Given the description of an element on the screen output the (x, y) to click on. 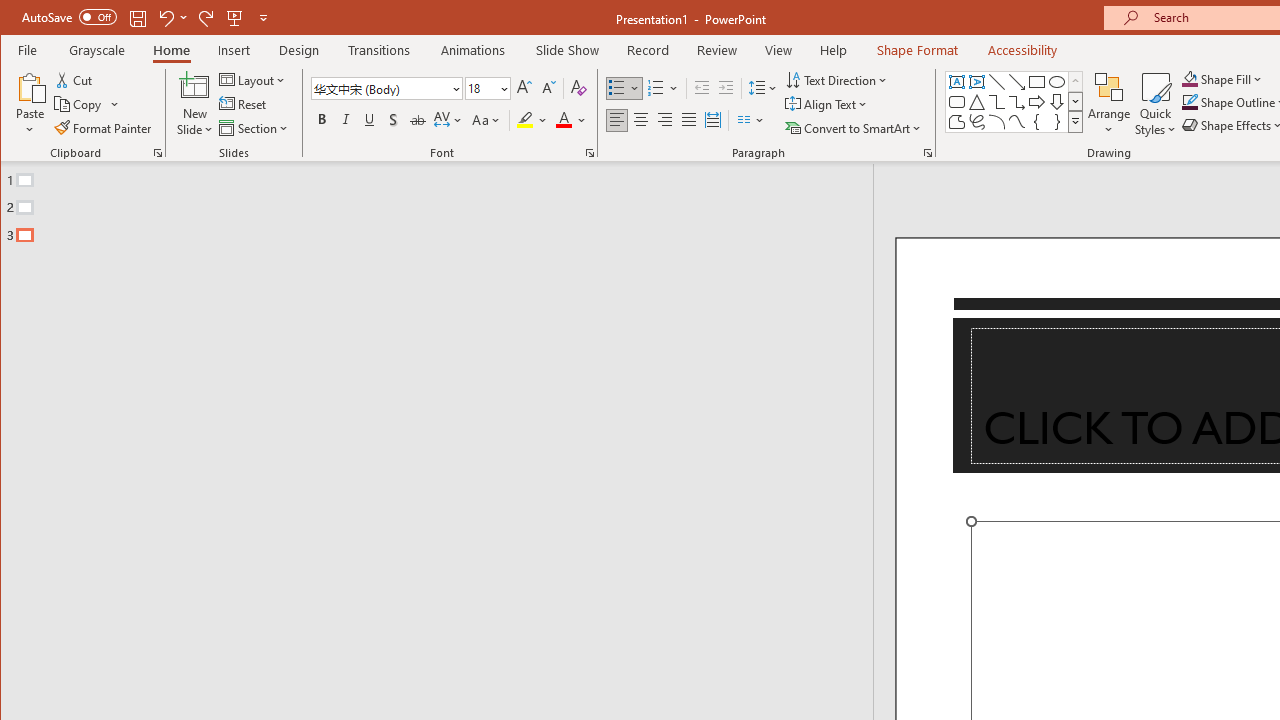
Outline (445, 203)
